Given the description of an element on the screen output the (x, y) to click on. 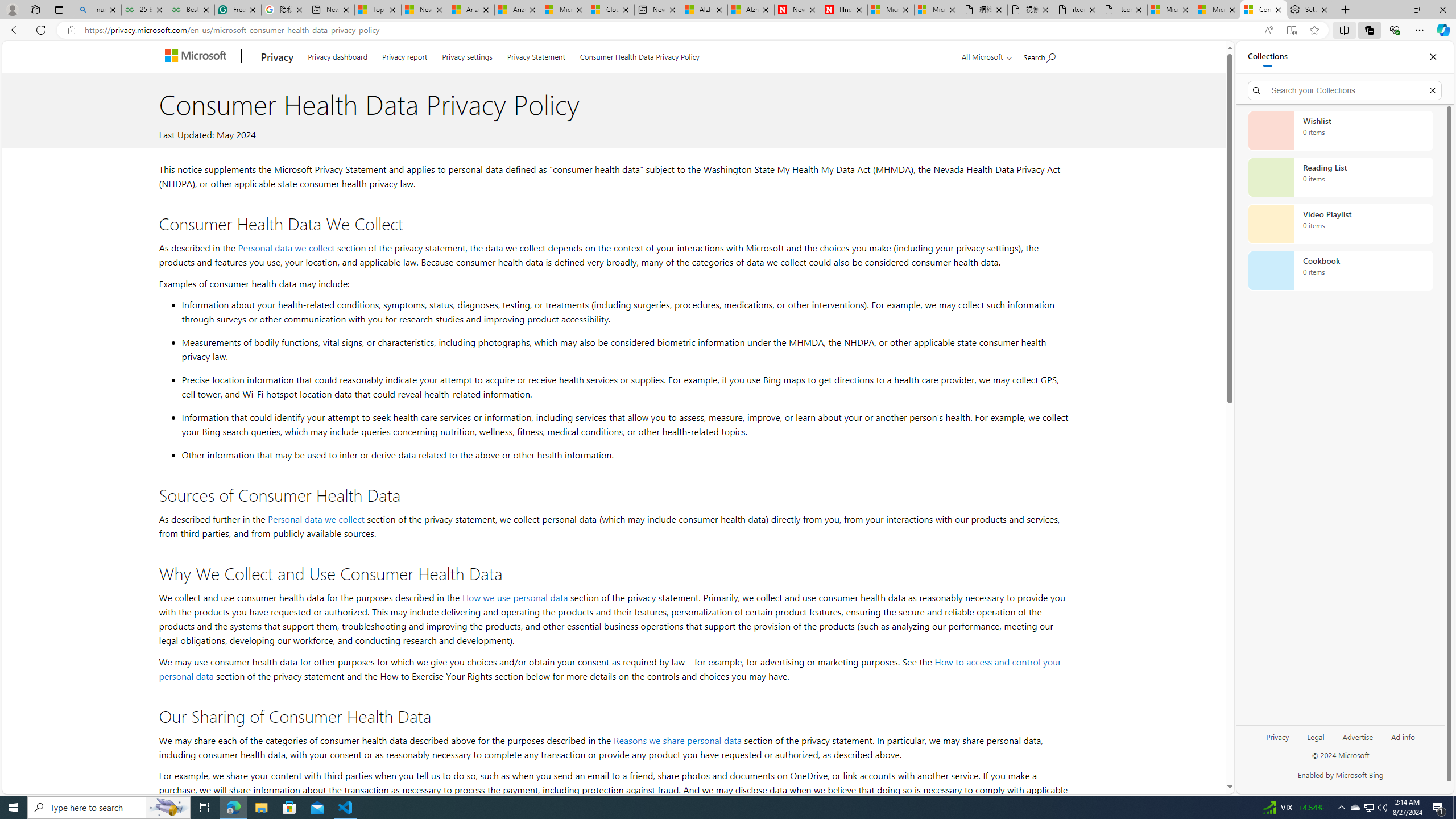
Exit search (1432, 90)
Search your Collections (1345, 90)
Top Stories - MSN (377, 9)
linux basic - Search (97, 9)
